Given the description of an element on the screen output the (x, y) to click on. 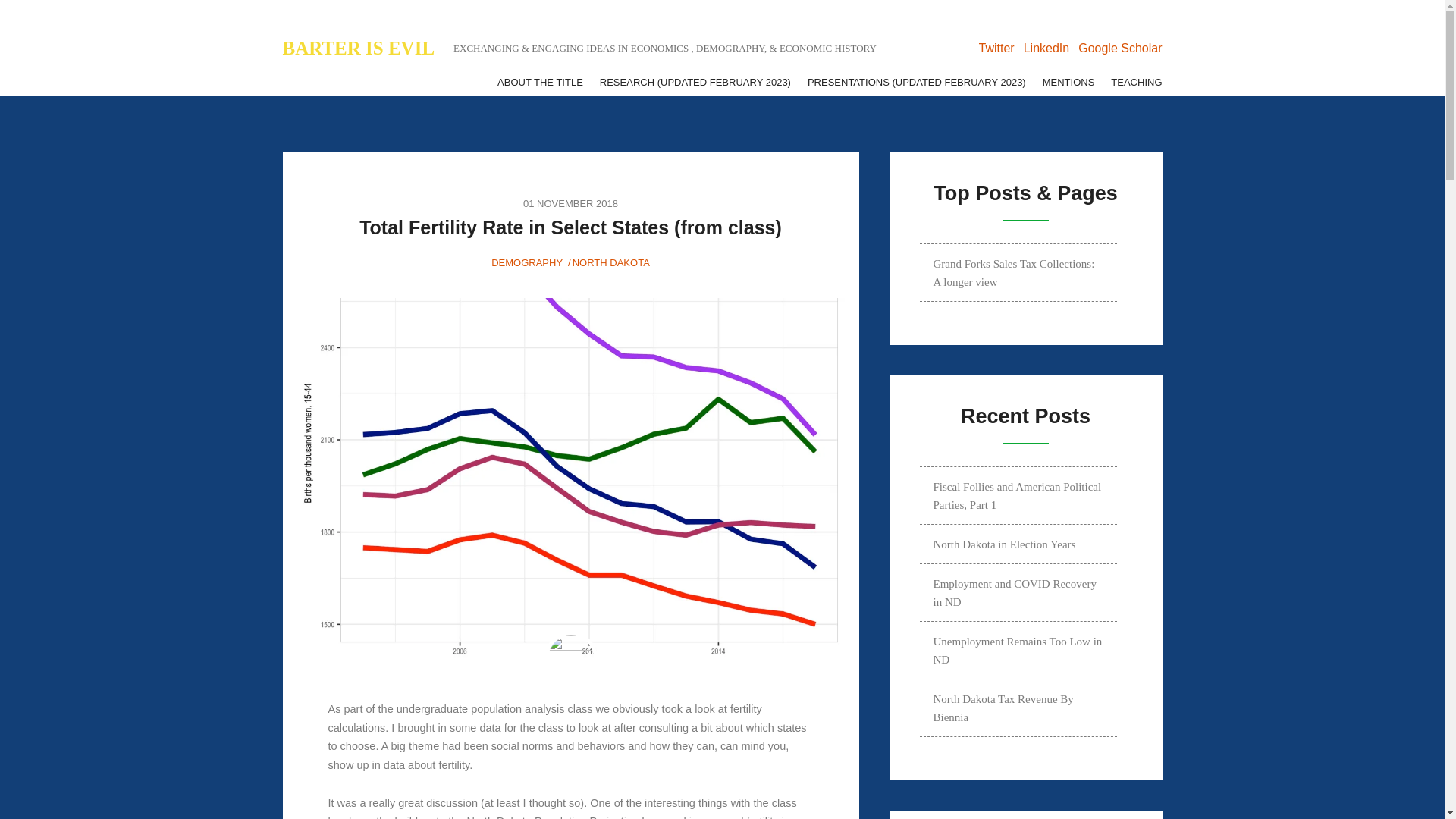
Twitter (996, 47)
Unemployment Remains Too Low in ND (1018, 649)
NORTH DAKOTA (610, 262)
Employment and COVID Recovery in ND (1018, 592)
Google Scholar (1119, 47)
North Dakota in Election Years (1018, 543)
Fiscal Follies and American Political Parties, Part 1 (1018, 495)
Grand Forks Sales Tax Collections: A longer view (1018, 272)
DEMOGRAPHY (527, 262)
David (570, 658)
MENTIONS (1068, 80)
LinkedIn (1046, 47)
ABOUT THE TITLE (540, 80)
BARTER IS EVIL (357, 48)
TEACHING (1135, 80)
